Given the description of an element on the screen output the (x, y) to click on. 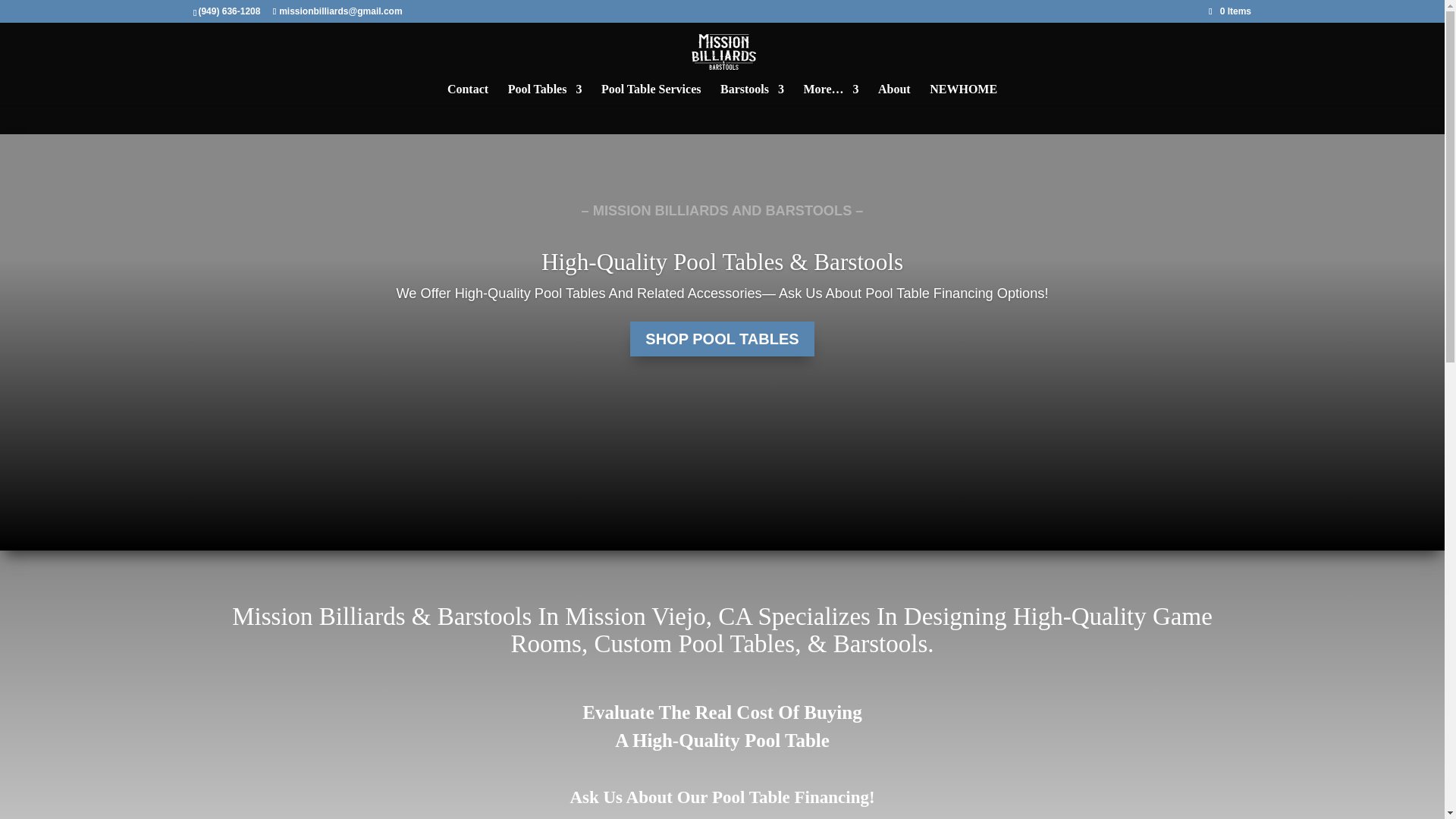
About (894, 94)
NEWHOME (963, 94)
Contact (466, 94)
Barstools (752, 94)
0 Items (1229, 10)
Pool Tables (545, 94)
SHOP POOL TABLES (721, 338)
Pool Table Services (651, 94)
